Given the description of an element on the screen output the (x, y) to click on. 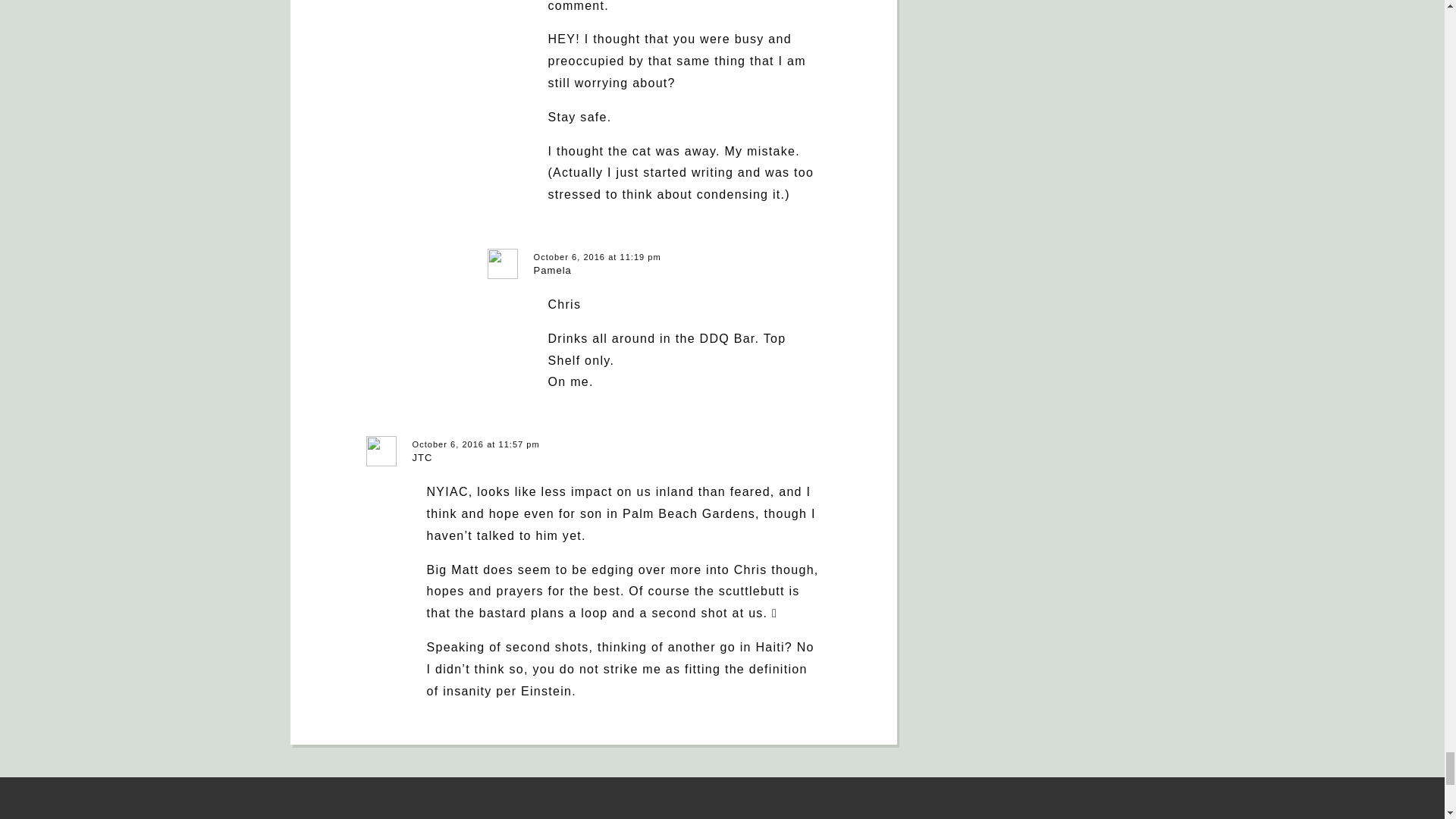
JTC (422, 457)
